Given the description of an element on the screen output the (x, y) to click on. 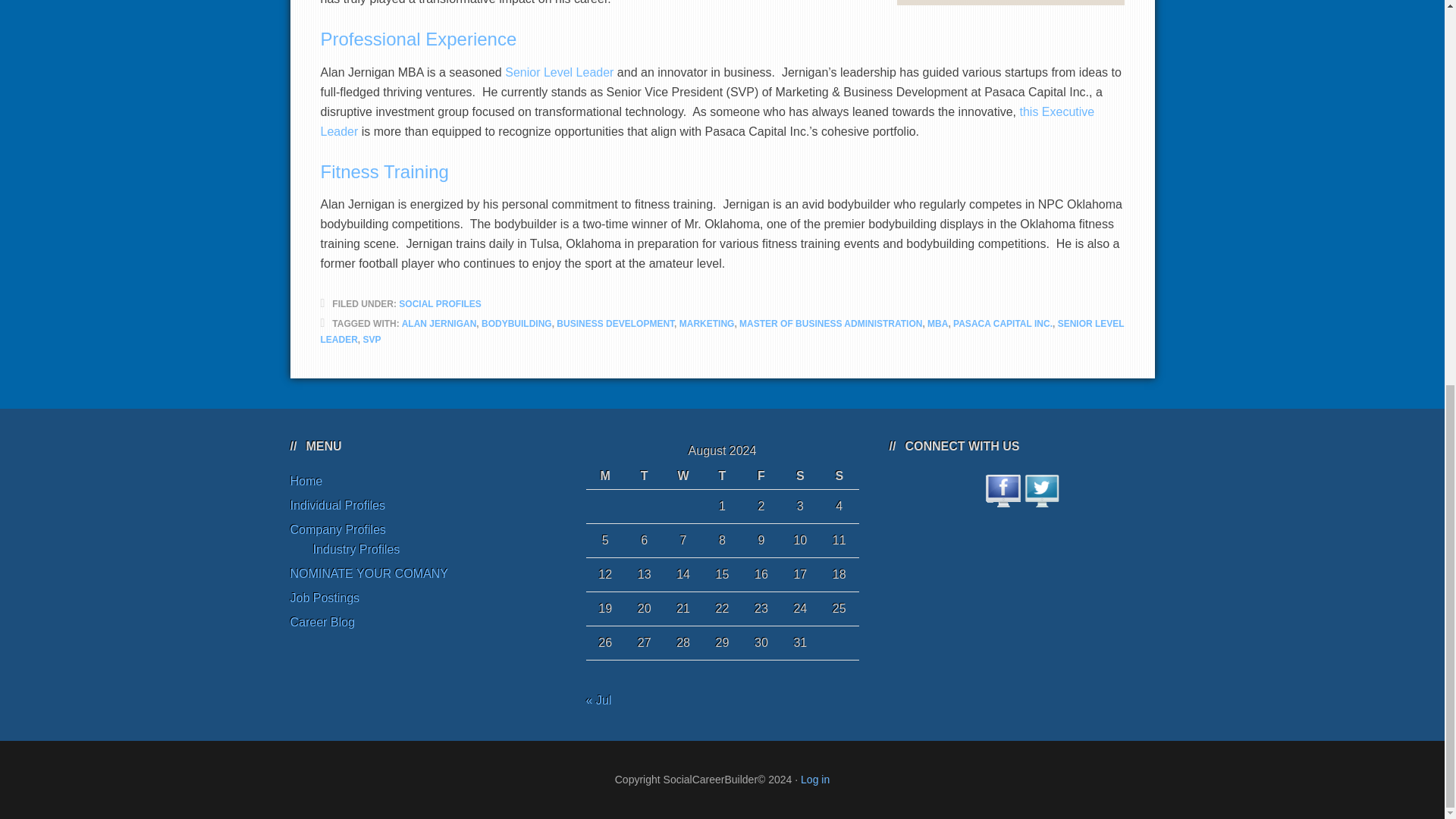
Industry Profiles (355, 549)
BODYBUILDING (516, 323)
this Executive Leader (707, 121)
MBA (937, 323)
Individual Profiles (336, 504)
BUSINESS DEVELOPMENT (615, 323)
Monday (604, 476)
MASTER OF BUSINESS ADMINISTRATION (830, 323)
ALAN JERNIGAN (439, 323)
Professional Experience (418, 38)
Visit Us On Twitter (1041, 499)
Saturday (799, 476)
Senior Level Leader (558, 72)
Log in (814, 779)
SOCIAL PROFILES (439, 303)
